Given the description of an element on the screen output the (x, y) to click on. 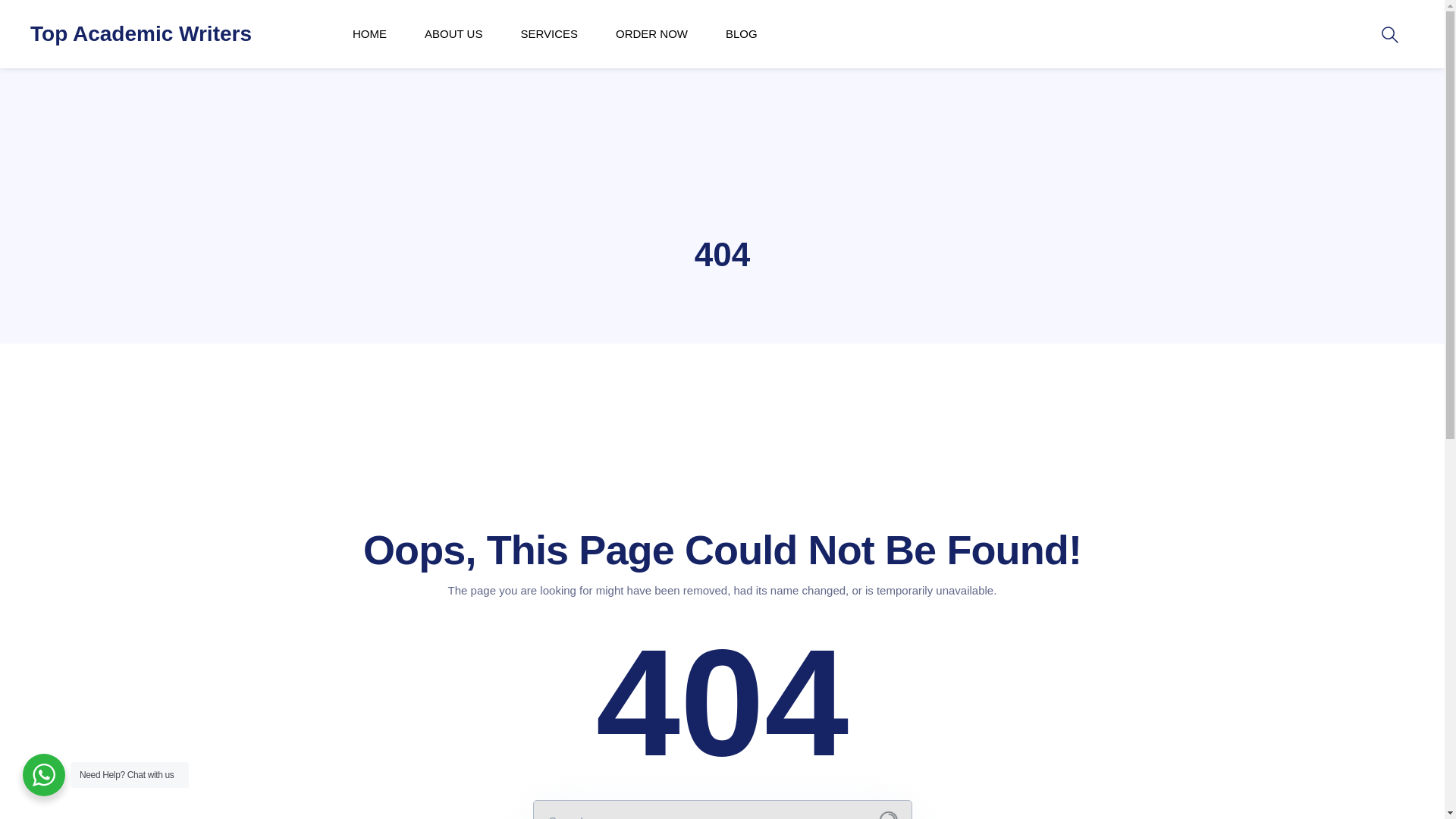
BLOG (741, 33)
Search (9, 9)
SERVICES (548, 33)
ORDER NOW (651, 33)
ABOUT US (453, 33)
Top Academic Writers (140, 33)
Search... (888, 815)
HOME (369, 33)
